Given the description of an element on the screen output the (x, y) to click on. 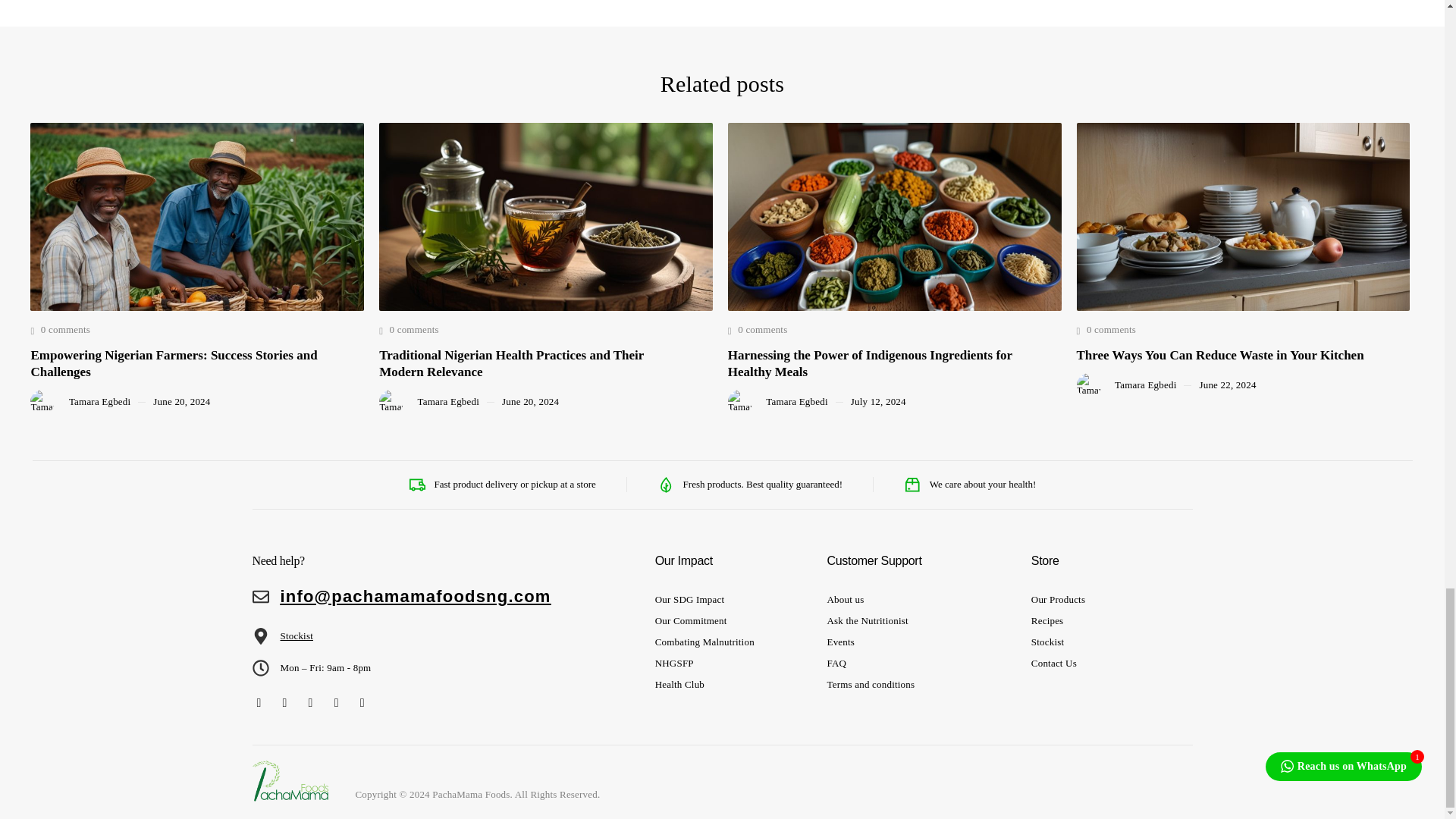
Posts by Tamara Egbedi (448, 401)
Posts by Tamara Egbedi (99, 401)
